Given the description of an element on the screen output the (x, y) to click on. 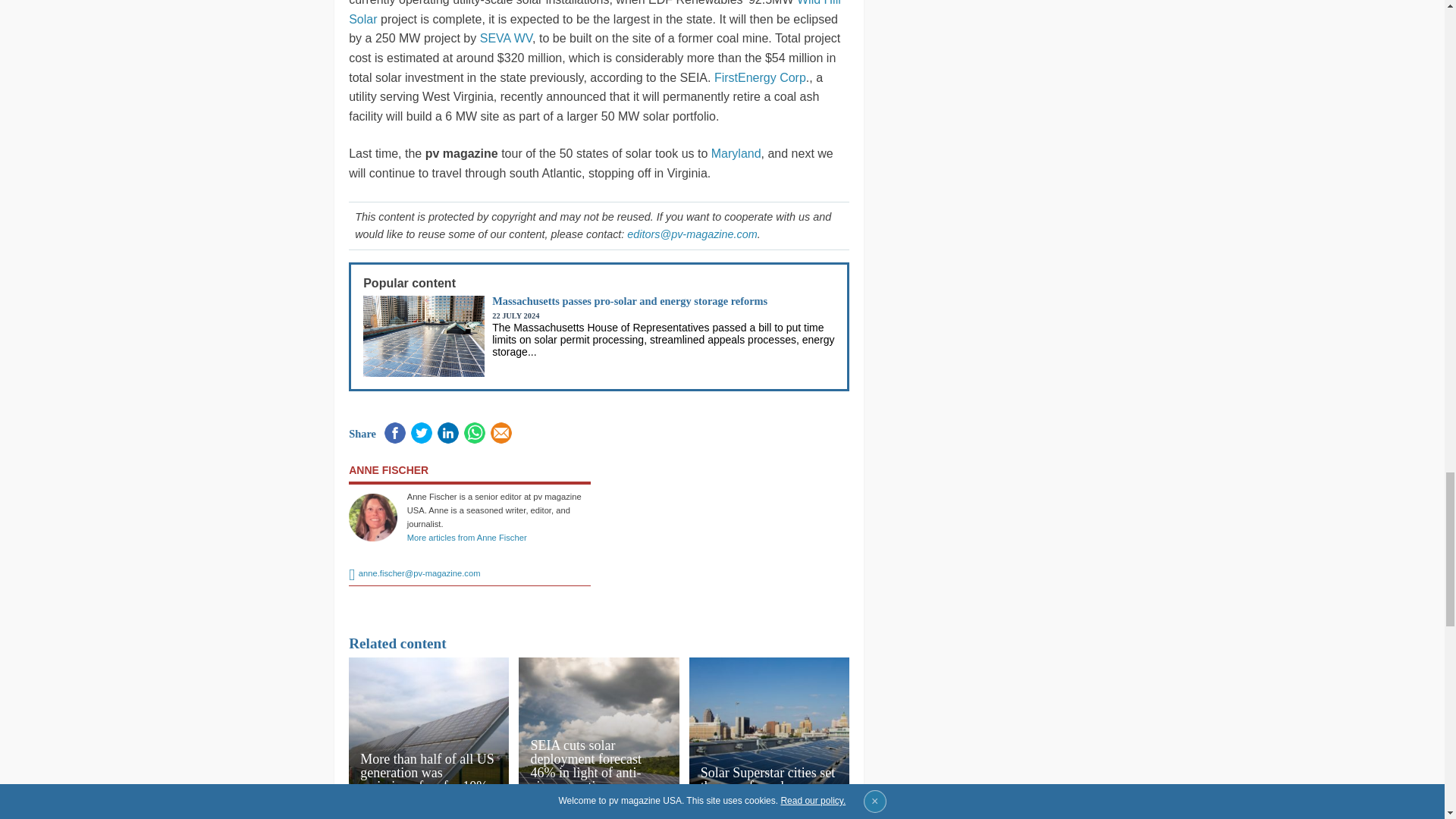
3rd party ad content (727, 528)
